Given the description of an element on the screen output the (x, y) to click on. 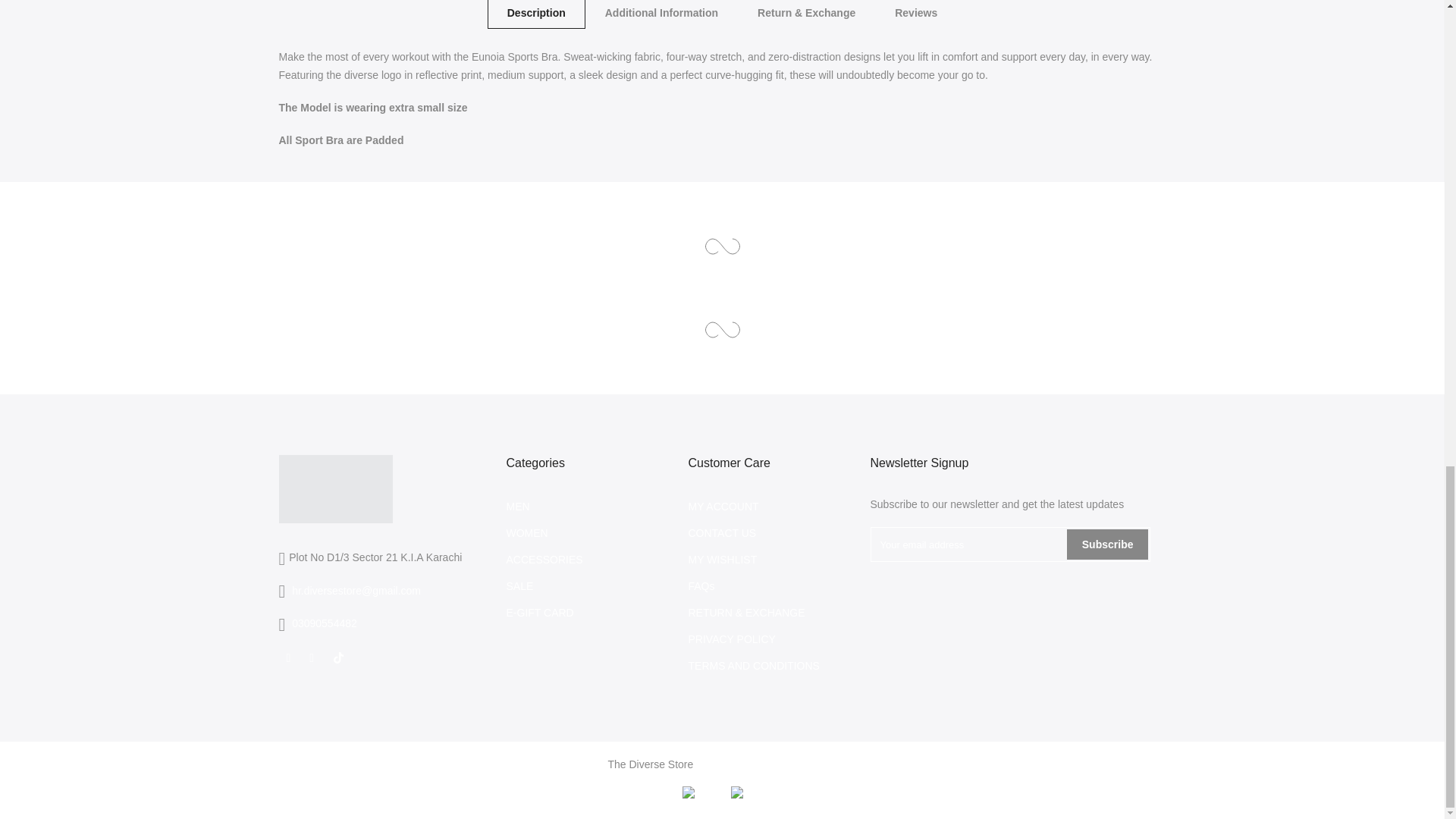
Additional Information (661, 14)
03090554482 (324, 623)
MEN (517, 506)
Description (536, 14)
Reviews (915, 14)
WOMEN (527, 532)
